Given the description of an element on the screen output the (x, y) to click on. 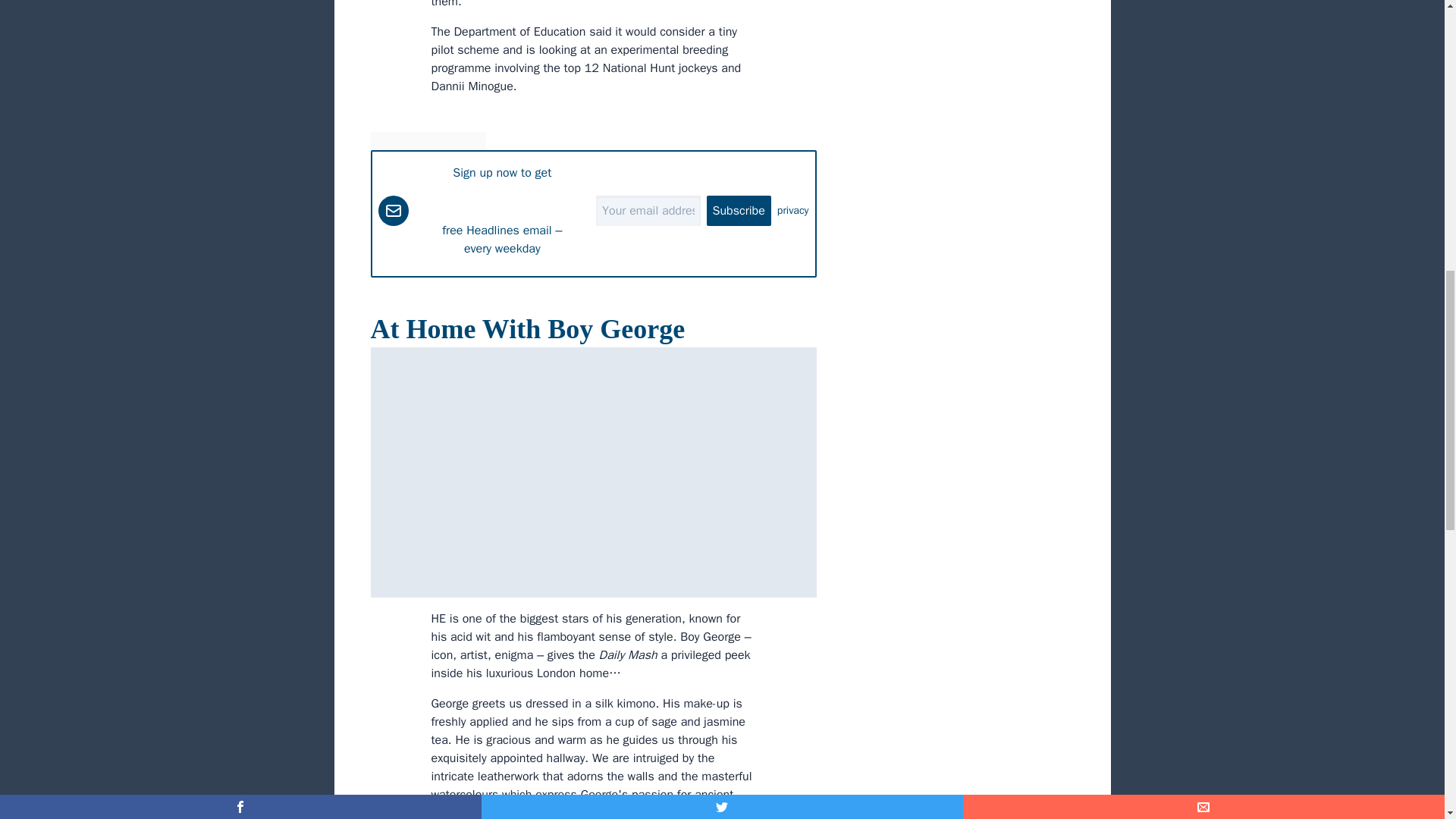
Subscribe (738, 210)
privacy (793, 210)
